Given the description of an element on the screen output the (x, y) to click on. 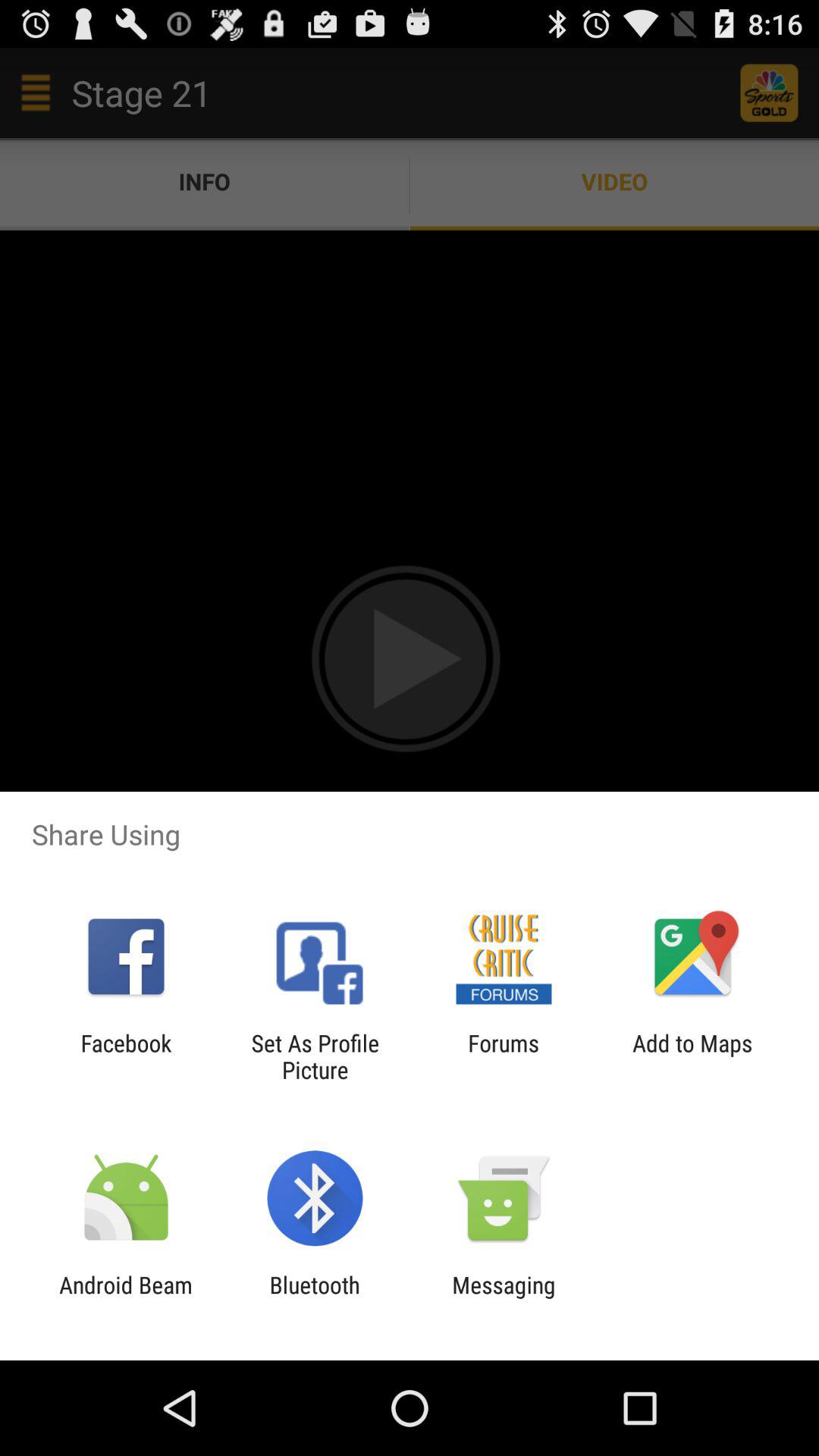
tap the app to the right of the bluetooth (503, 1298)
